Given the description of an element on the screen output the (x, y) to click on. 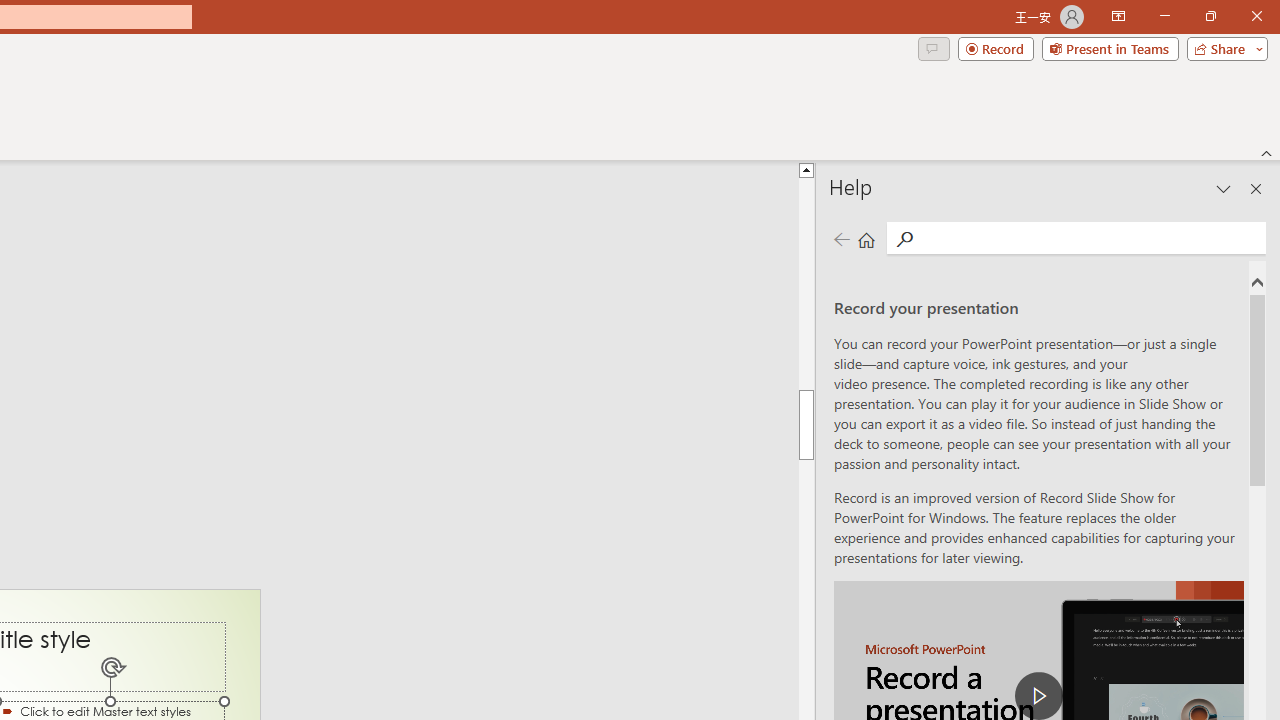
play Record a Presentation (1038, 695)
